Given the description of an element on the screen output the (x, y) to click on. 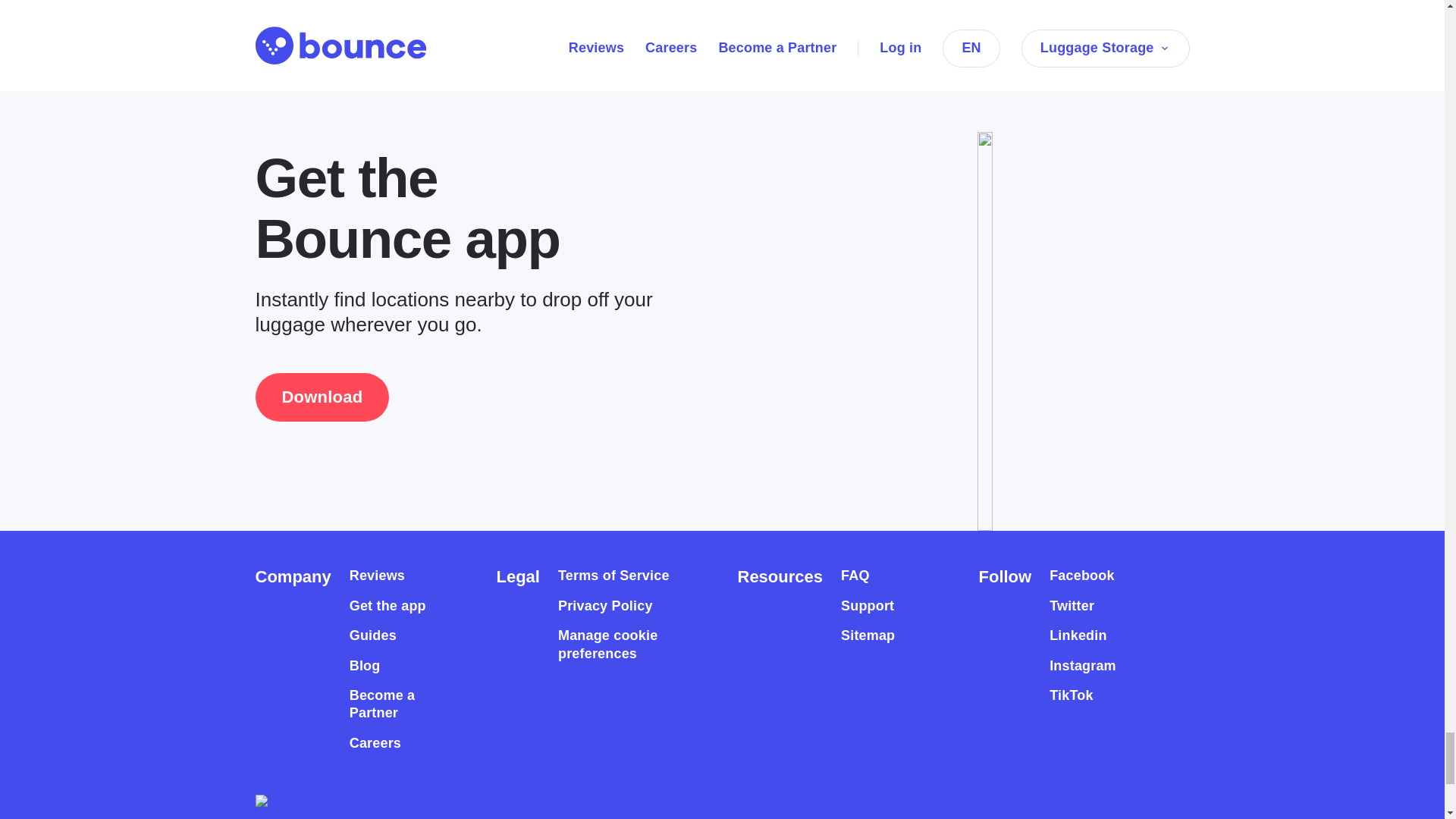
Manage cookie preferences (619, 644)
Terms of Service (613, 575)
Guides (372, 635)
Download (321, 397)
Become a Partner (395, 704)
Careers (375, 743)
Reviews (376, 575)
Blog (364, 665)
Get the app (387, 606)
Privacy Policy (604, 606)
FAQ (855, 575)
